Given the description of an element on the screen output the (x, y) to click on. 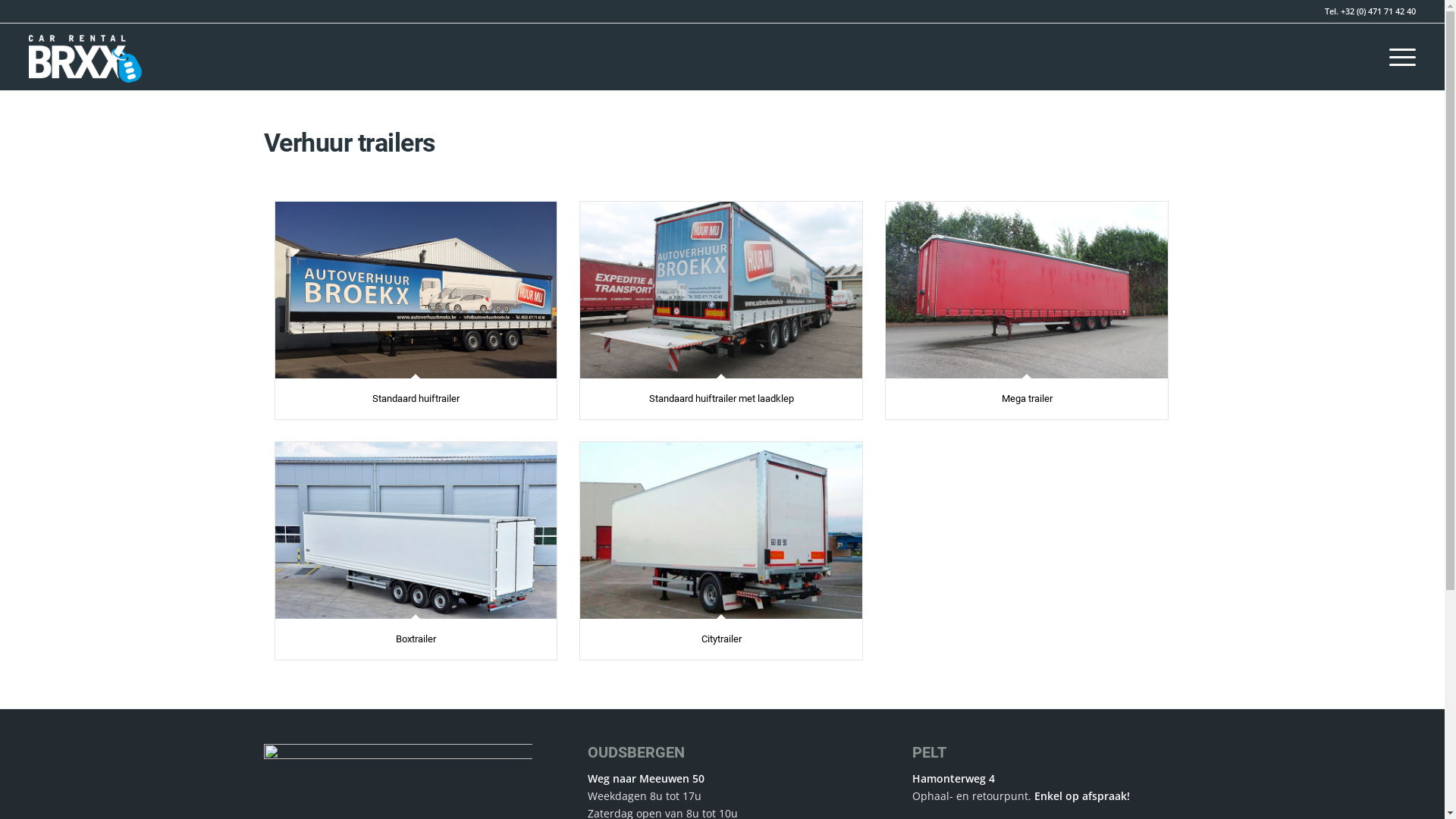
Standaard huiftrailer met laadklep Element type: text (721, 398)
Citytrailer Element type: hover (721, 530)
Mega trailer Element type: text (1026, 398)
Standaard huiftrailer Element type: hover (415, 289)
Boxtrailer Element type: hover (415, 530)
Boxtrailer Element type: text (415, 638)
Citytrailer Element type: text (721, 638)
Standaard huiftrailer Element type: text (415, 398)
Mega trailer Element type: hover (1026, 289)
Standaard huiftrailer met laadklep Element type: hover (721, 289)
